Given the description of an element on the screen output the (x, y) to click on. 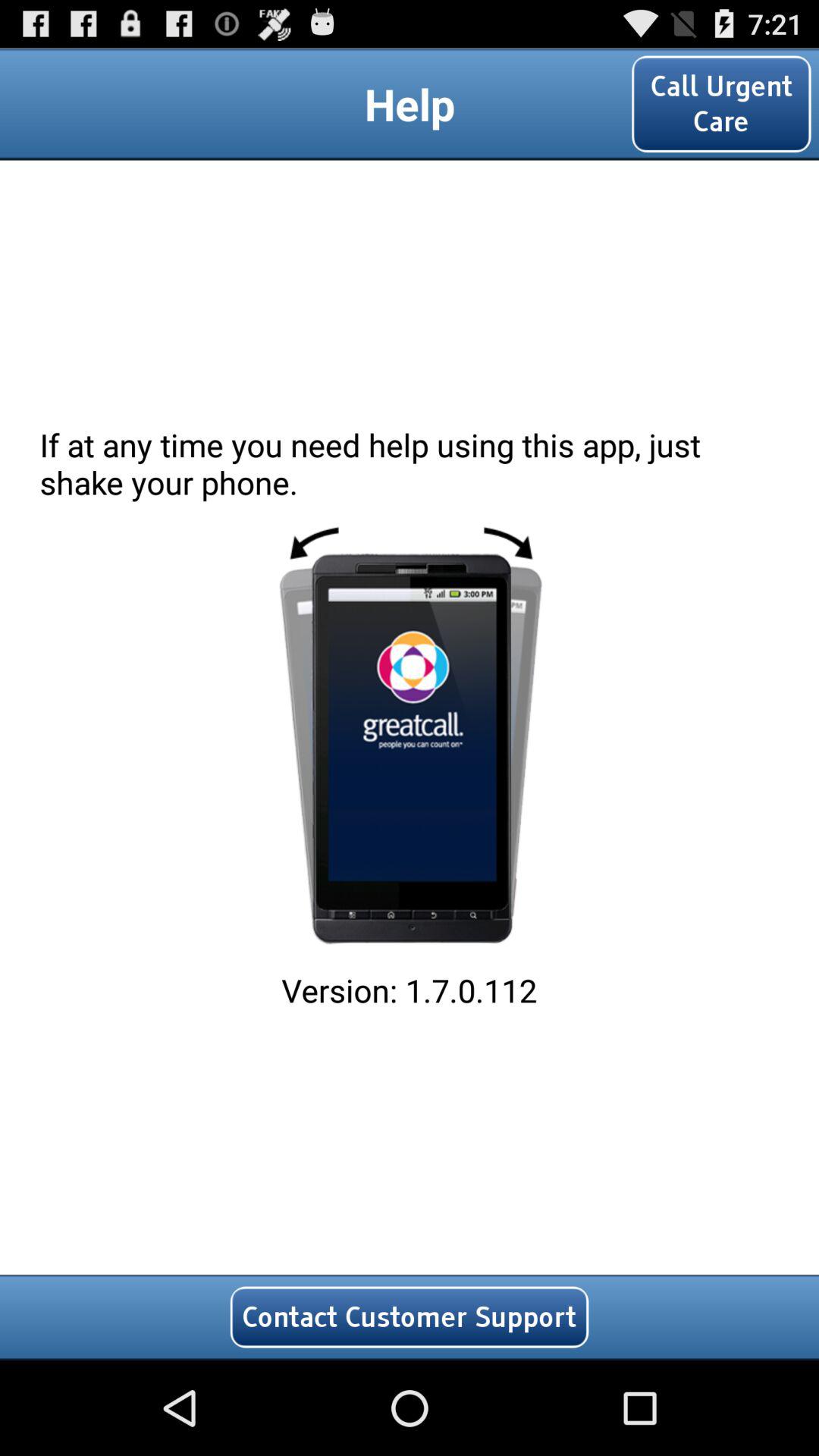
click the icon above the if at any app (721, 103)
